Given the description of an element on the screen output the (x, y) to click on. 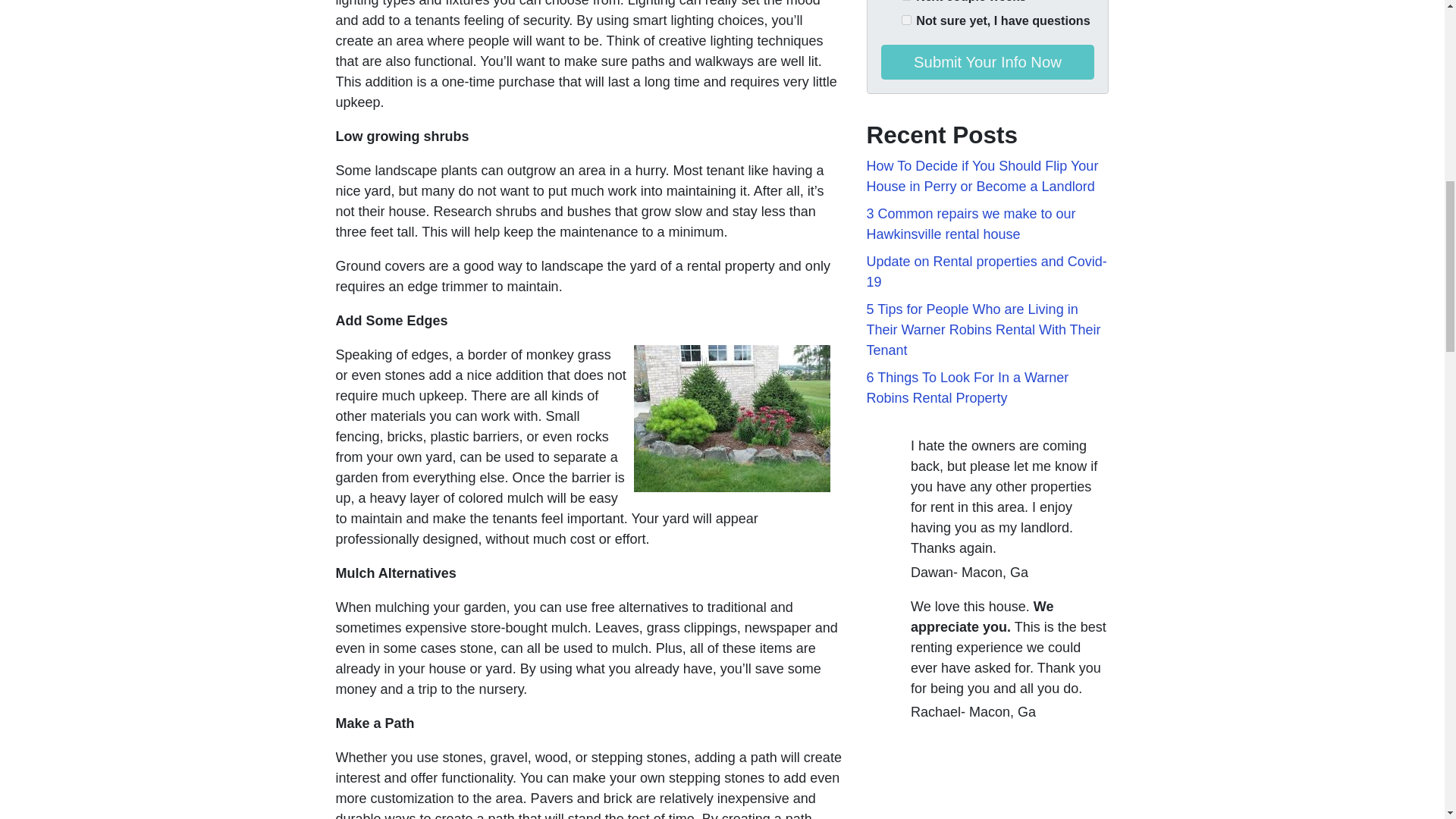
6 Things To Look For In a Warner Robins Rental Property (967, 387)
Update on Rental properties and Covid-19 (986, 271)
Submit Your Info Now (987, 62)
3 Common repairs we make to our Hawkinsville rental house (970, 223)
